Given the description of an element on the screen output the (x, y) to click on. 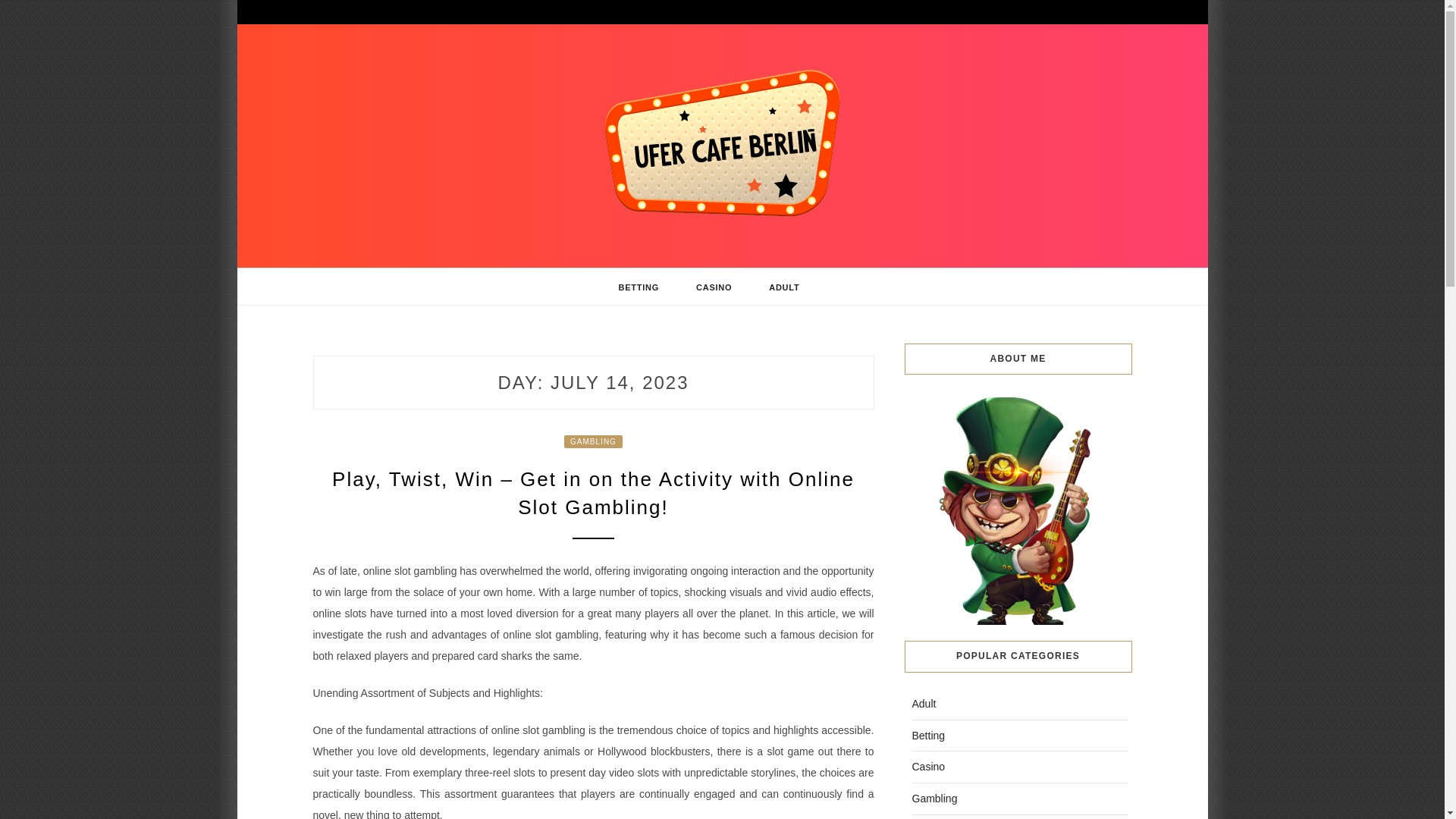
Gambling (933, 798)
BETTING (638, 287)
CASINO (714, 287)
Casino (927, 766)
GAMBLING (593, 440)
Betting (927, 735)
Adult (923, 703)
UFER CAFE BERLIN (468, 261)
ADULT (784, 287)
